Given the description of an element on the screen output the (x, y) to click on. 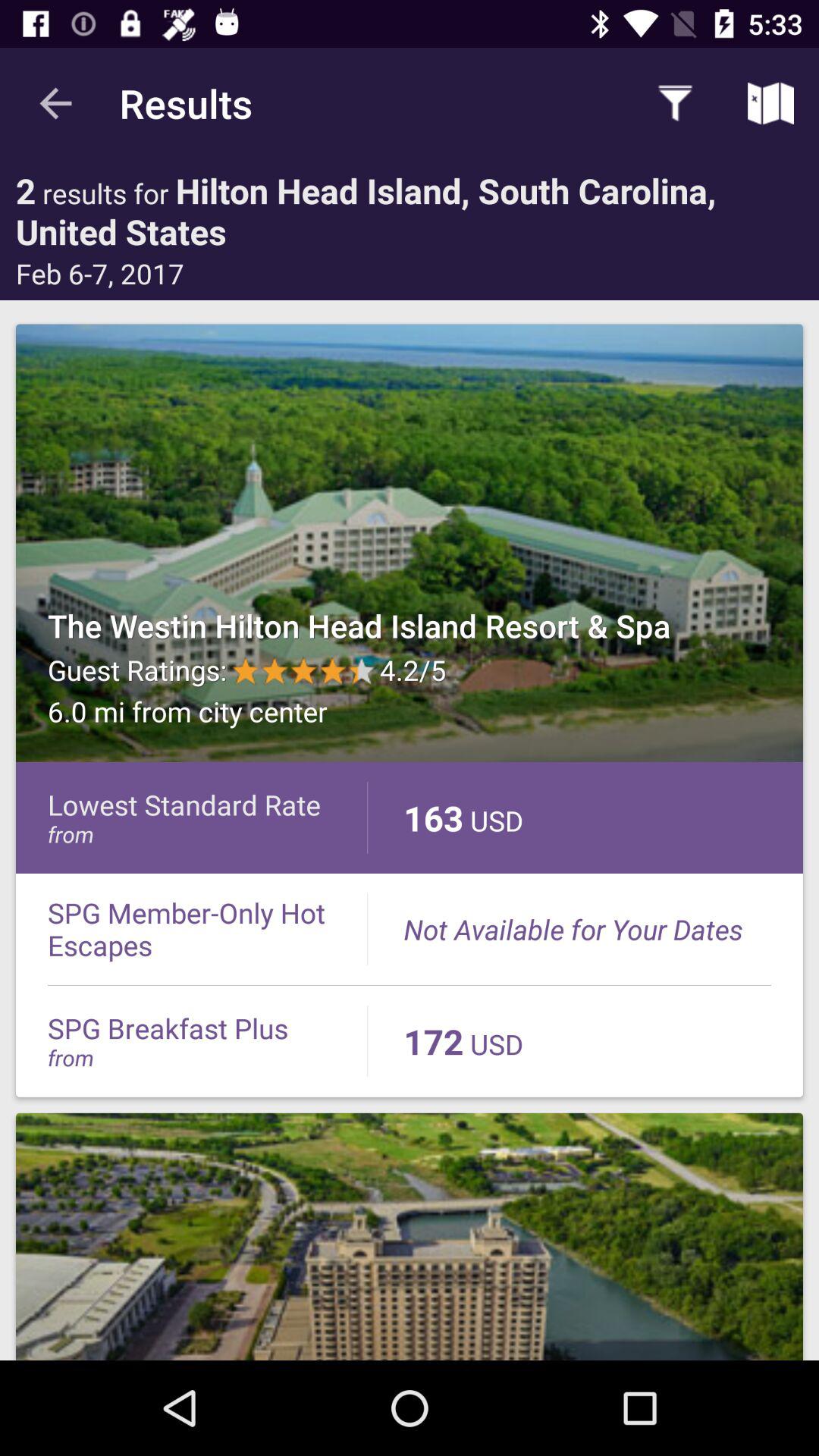
click the app to the right of the results item (675, 103)
